Given the description of an element on the screen output the (x, y) to click on. 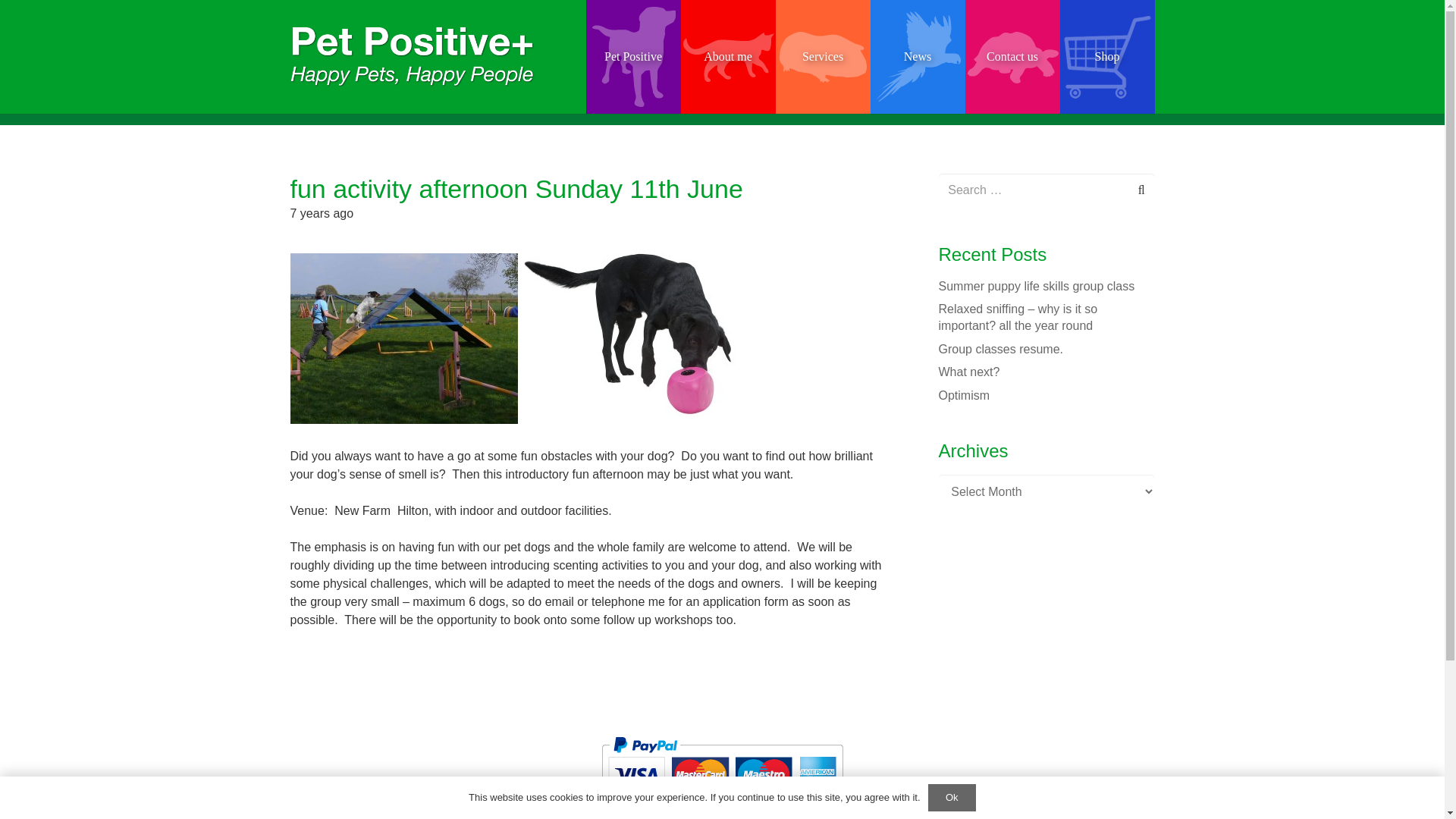
Group classes resume. (1001, 349)
Summer puppy life skills group class (1037, 286)
Ok (951, 797)
Search (1137, 190)
Optimism (964, 395)
What next? (969, 371)
